Given the description of an element on the screen output the (x, y) to click on. 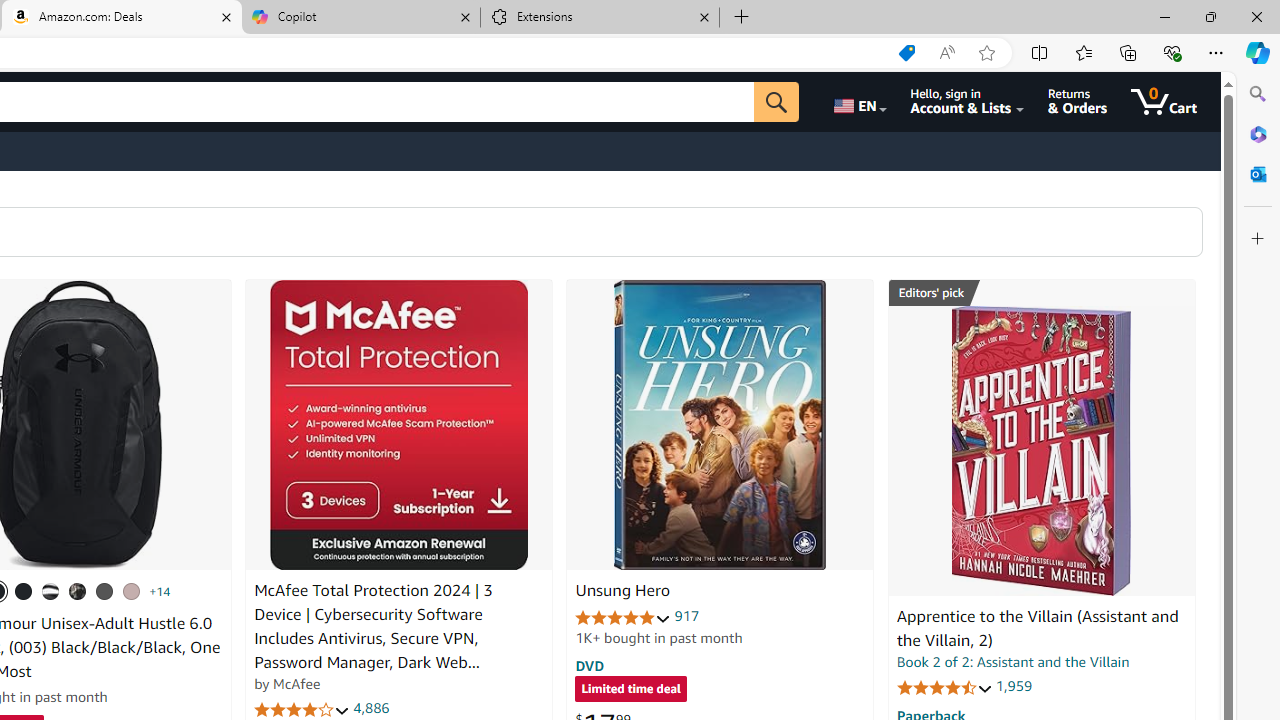
+14 (159, 591)
Extensions (600, 17)
